Given the description of an element on the screen output the (x, y) to click on. 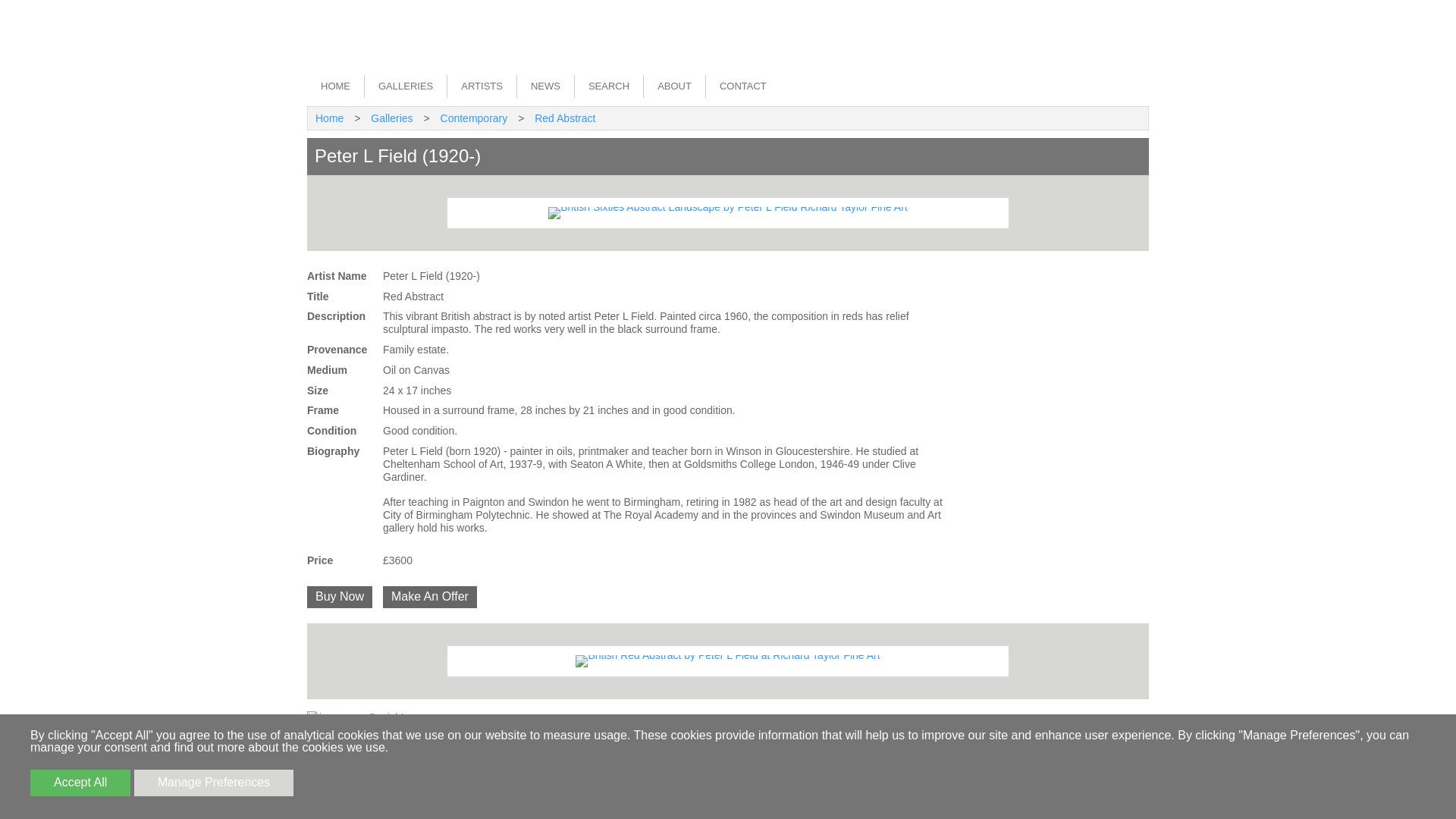
ARTISTS (481, 86)
HOME (335, 86)
Peter L Field - Red Abstract - Richard Taylor Fine Art (727, 661)
Peter Field Red Abstract Richard Taylor Fine Art (727, 213)
GALLERIES (405, 86)
Red Abstract (564, 118)
Galleries (391, 118)
NEWS (544, 86)
ABOUT (673, 86)
Contemporary (473, 118)
